Given the description of an element on the screen output the (x, y) to click on. 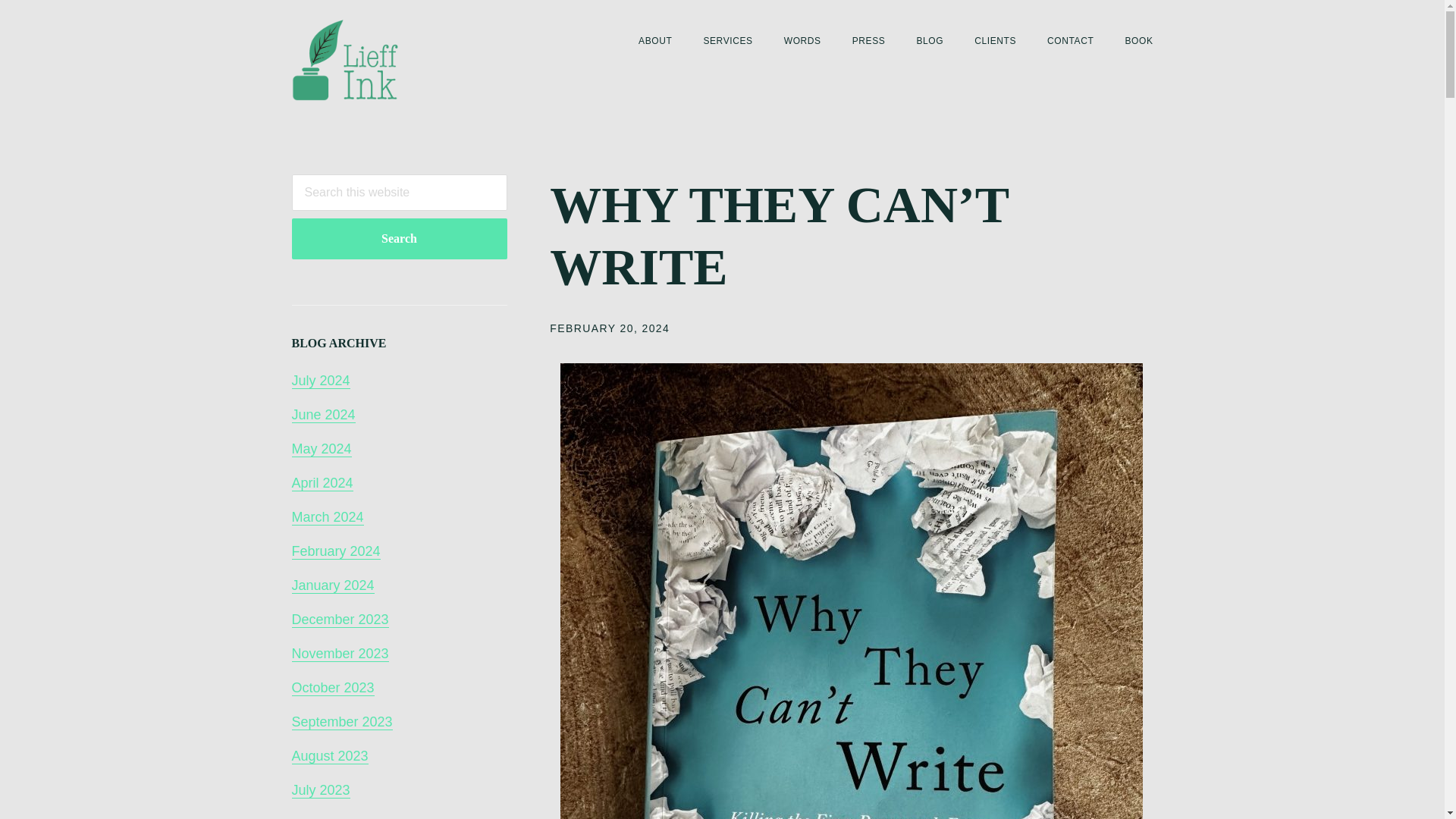
October 2023 (332, 688)
Search (398, 238)
September 2023 (341, 722)
August 2023 (329, 756)
July 2023 (320, 790)
SERVICES (727, 40)
Lieff Ink (366, 58)
May 2024 (320, 449)
WORDS (802, 40)
PRESS (868, 40)
December 2023 (339, 619)
February 2024 (335, 551)
CLIENTS (995, 40)
November 2023 (339, 653)
CONTACT (1069, 40)
